Given the description of an element on the screen output the (x, y) to click on. 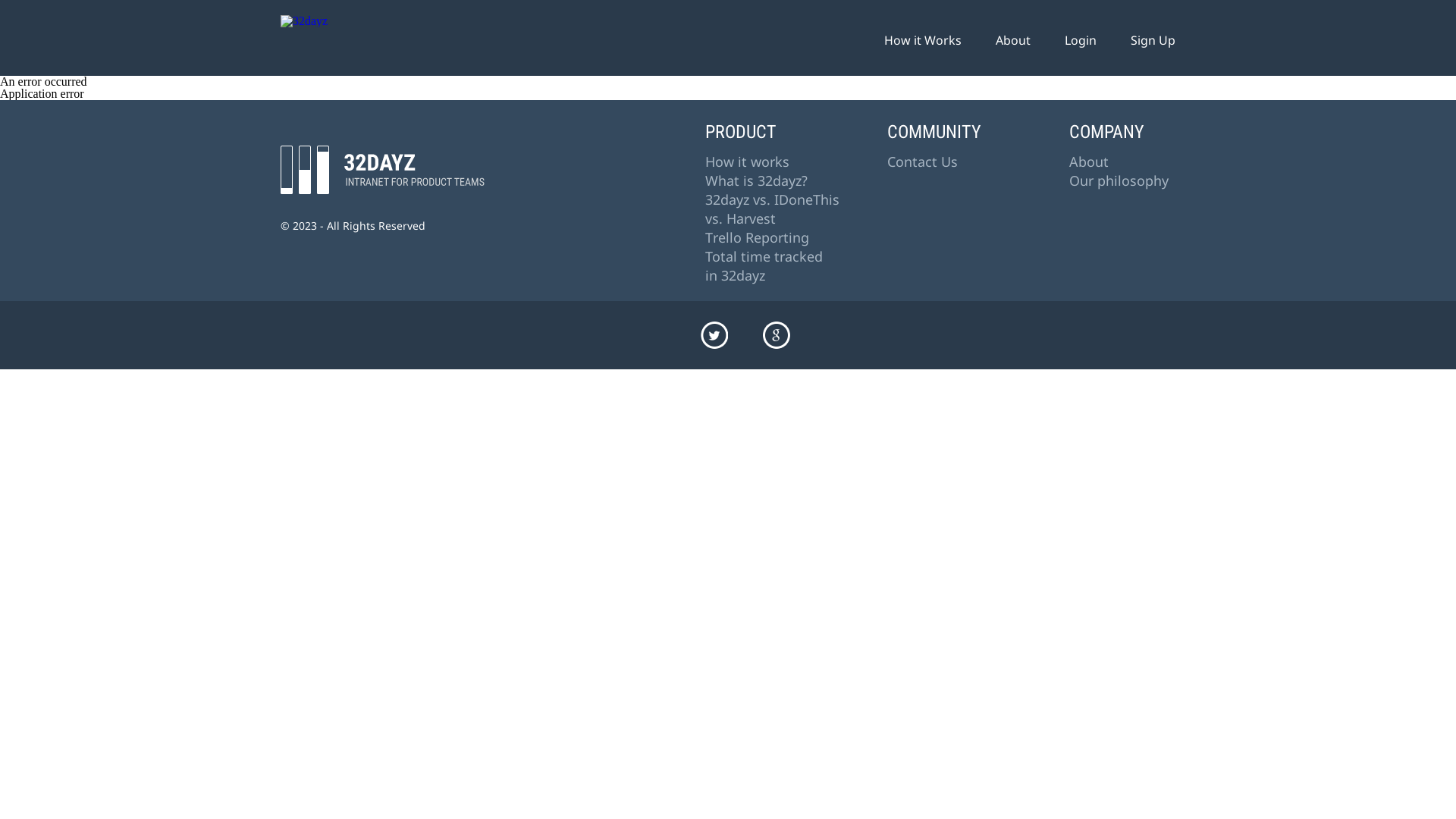
How it Works Element type: text (922, 39)
Login Element type: text (1080, 39)
How it works Element type: text (747, 161)
Total time tracked in 32dayz Element type: text (765, 266)
Contact Us Element type: text (922, 161)
Trello Reporting Element type: text (757, 237)
Our philosophy Element type: text (1118, 180)
About Element type: text (1088, 161)
About Element type: text (1012, 39)
Sign Up Element type: text (1152, 39)
32dayz vs. IDoneThis vs. Harvest Element type: text (773, 209)
What is 32dayz? Element type: text (756, 180)
